Given the description of an element on the screen output the (x, y) to click on. 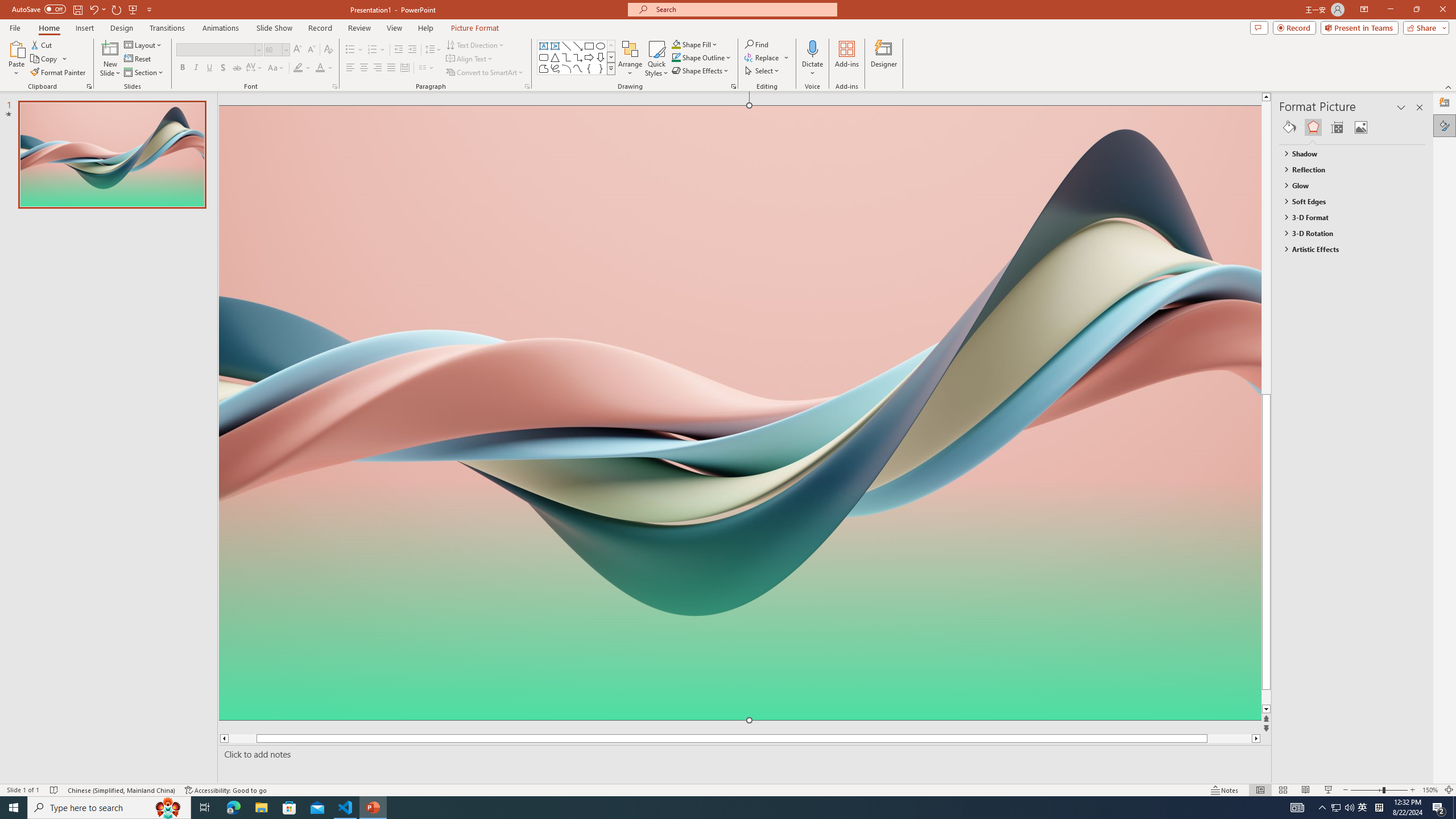
Replace... (767, 56)
Bullets (354, 49)
Format Object... (733, 85)
Slide Show (273, 28)
File Tab (15, 27)
Comments (1259, 27)
Customize Quick Access Toolbar (149, 9)
Line up (1287, 96)
Line Spacing (433, 49)
Class: MsoCommandBar (728, 789)
Freeform: Shape (543, 68)
Font Color Red (320, 67)
